Given the description of an element on the screen output the (x, y) to click on. 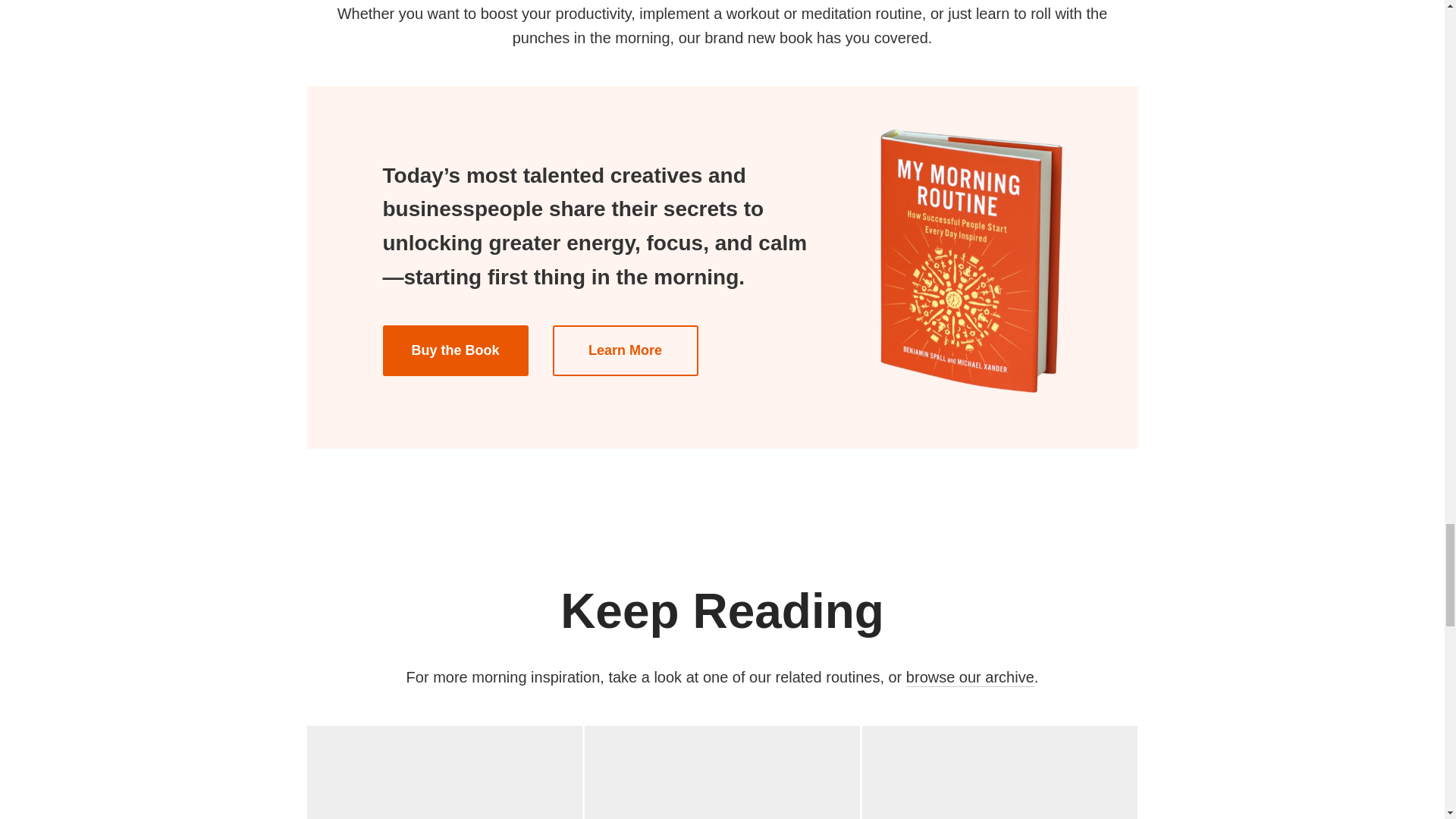
browse our archive (722, 772)
Buy the Book (969, 678)
Learn More (454, 350)
